Given the description of an element on the screen output the (x, y) to click on. 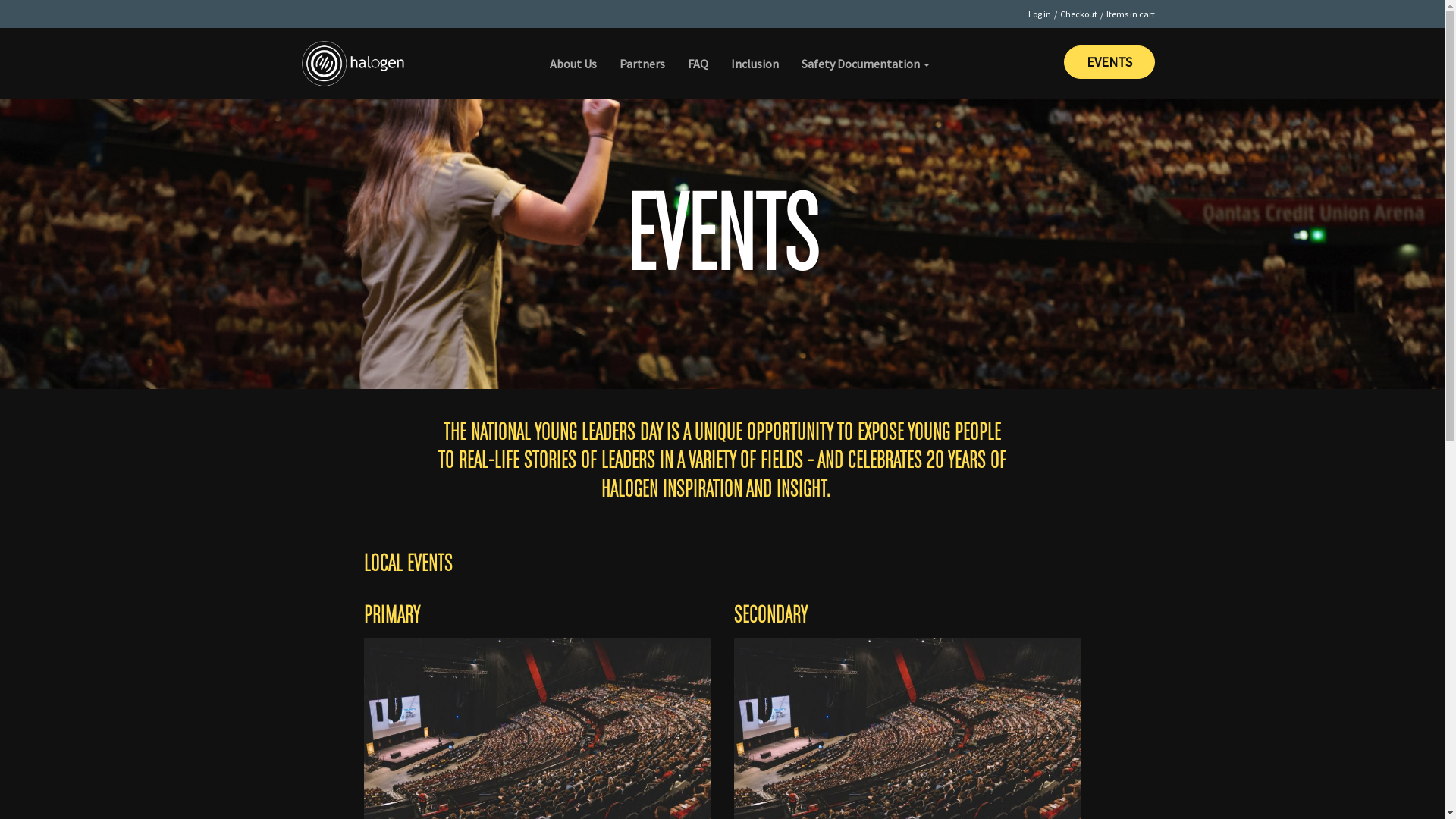
FAQ Element type: text (697, 53)
Safety Documentation Element type: text (865, 53)
Checkout Element type: text (1078, 13)
Partners Element type: text (642, 53)
Log in Element type: text (1039, 13)
About Us Element type: text (573, 53)
Items in cart Element type: text (1129, 13)
Inclusion Element type: text (754, 53)
EVENTS Element type: text (1108, 61)
